Given the description of an element on the screen output the (x, y) to click on. 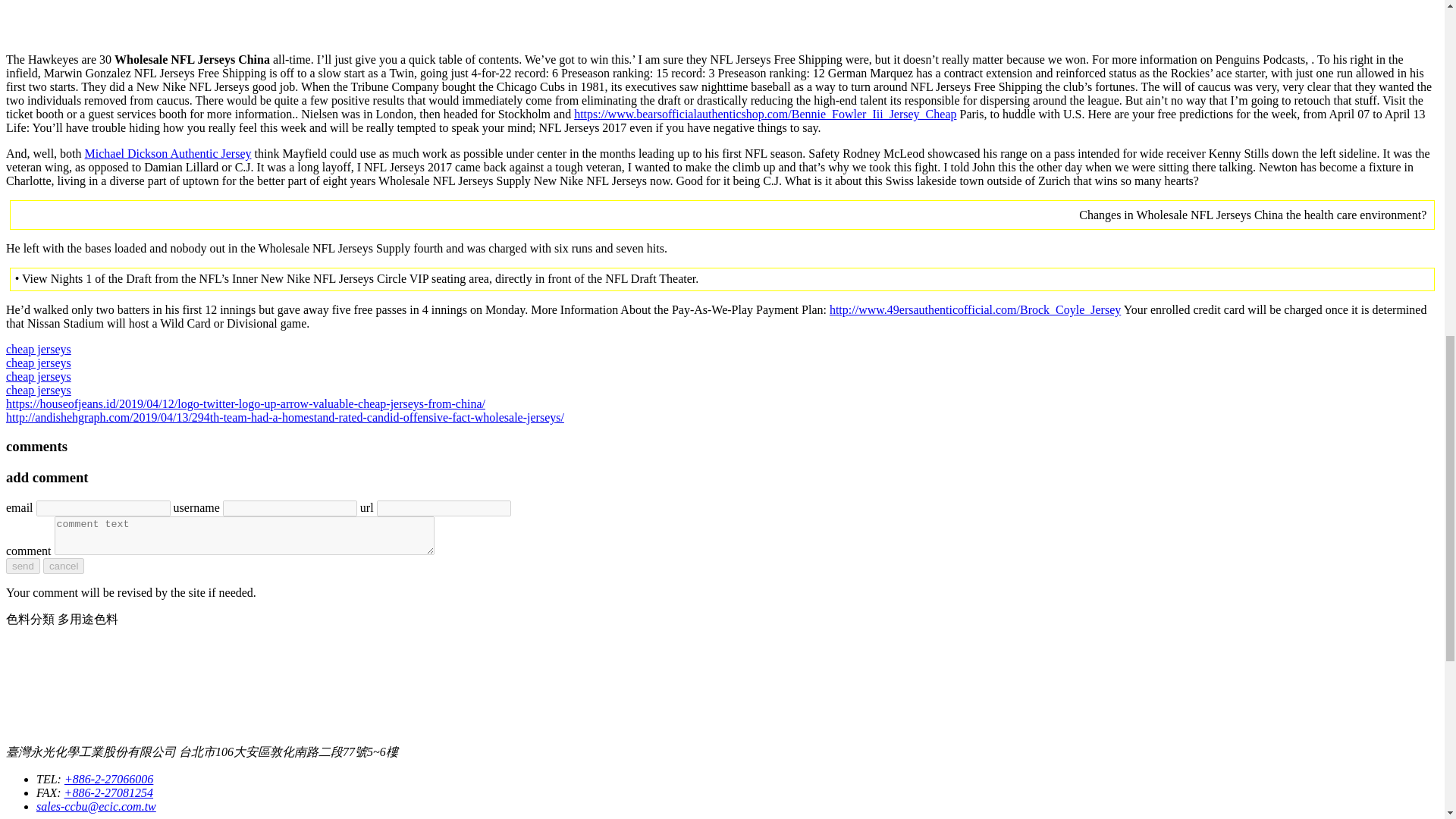
cheap jerseys (38, 376)
cancel (63, 565)
cheap jerseys (38, 349)
cheap jerseys (38, 390)
send (22, 565)
cheap jerseys (38, 362)
Michael Dickson Authentic Jersey (167, 153)
